Given the description of an element on the screen output the (x, y) to click on. 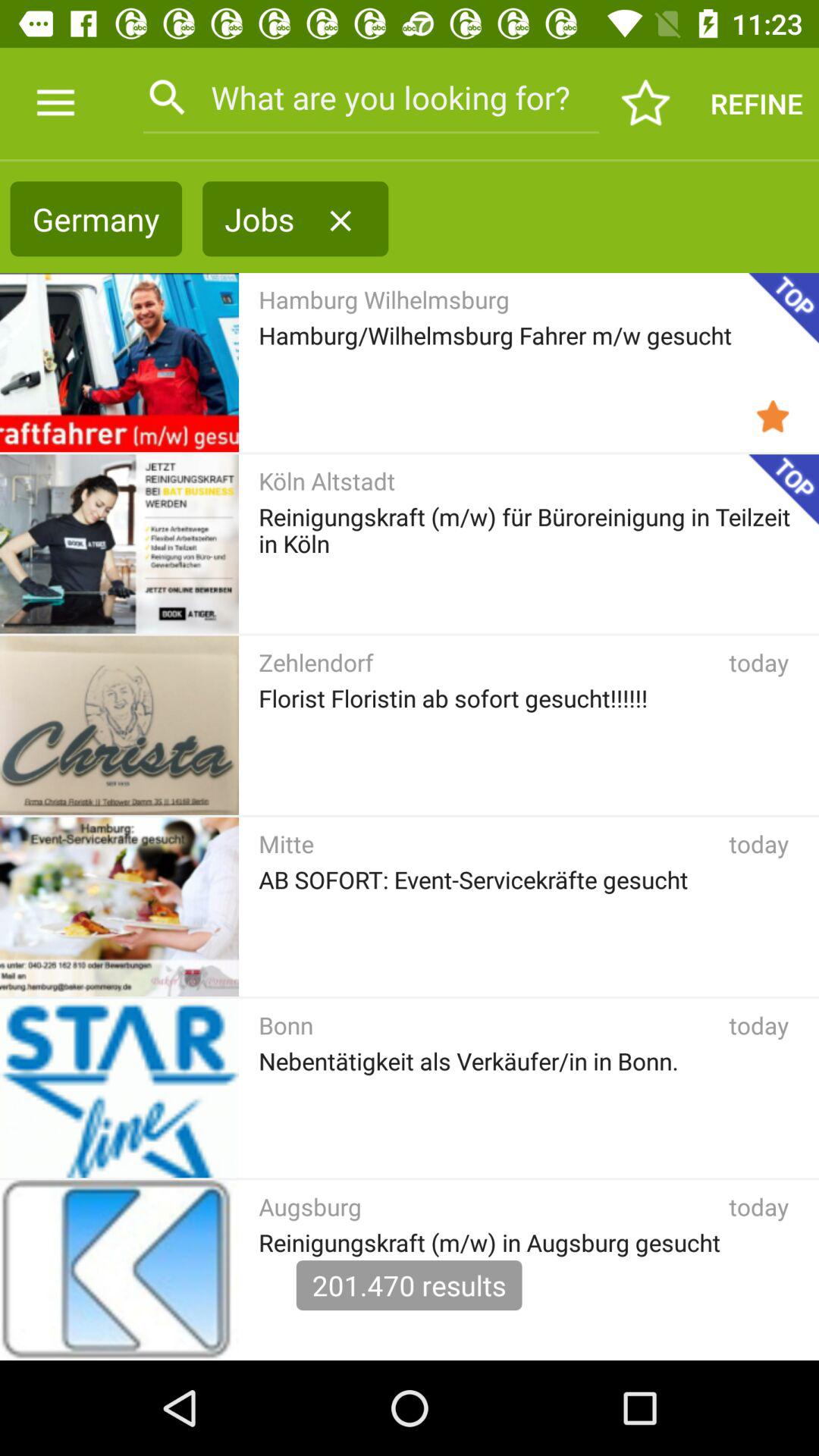
swipe until what are you item (370, 97)
